Given the description of an element on the screen output the (x, y) to click on. 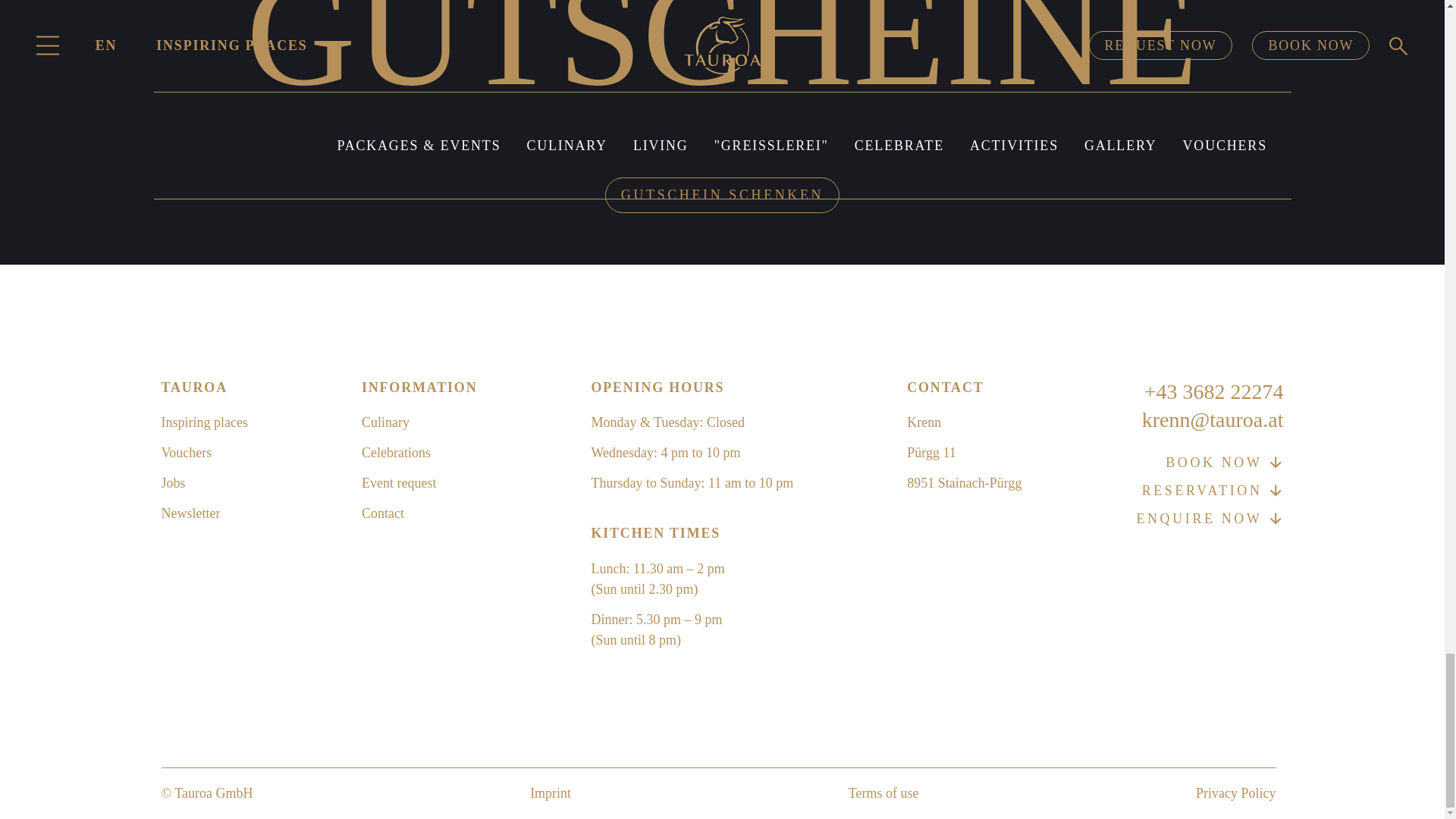
Imprint (549, 792)
Privacy Policy (1235, 792)
Terms of use (883, 792)
